Given the description of an element on the screen output the (x, y) to click on. 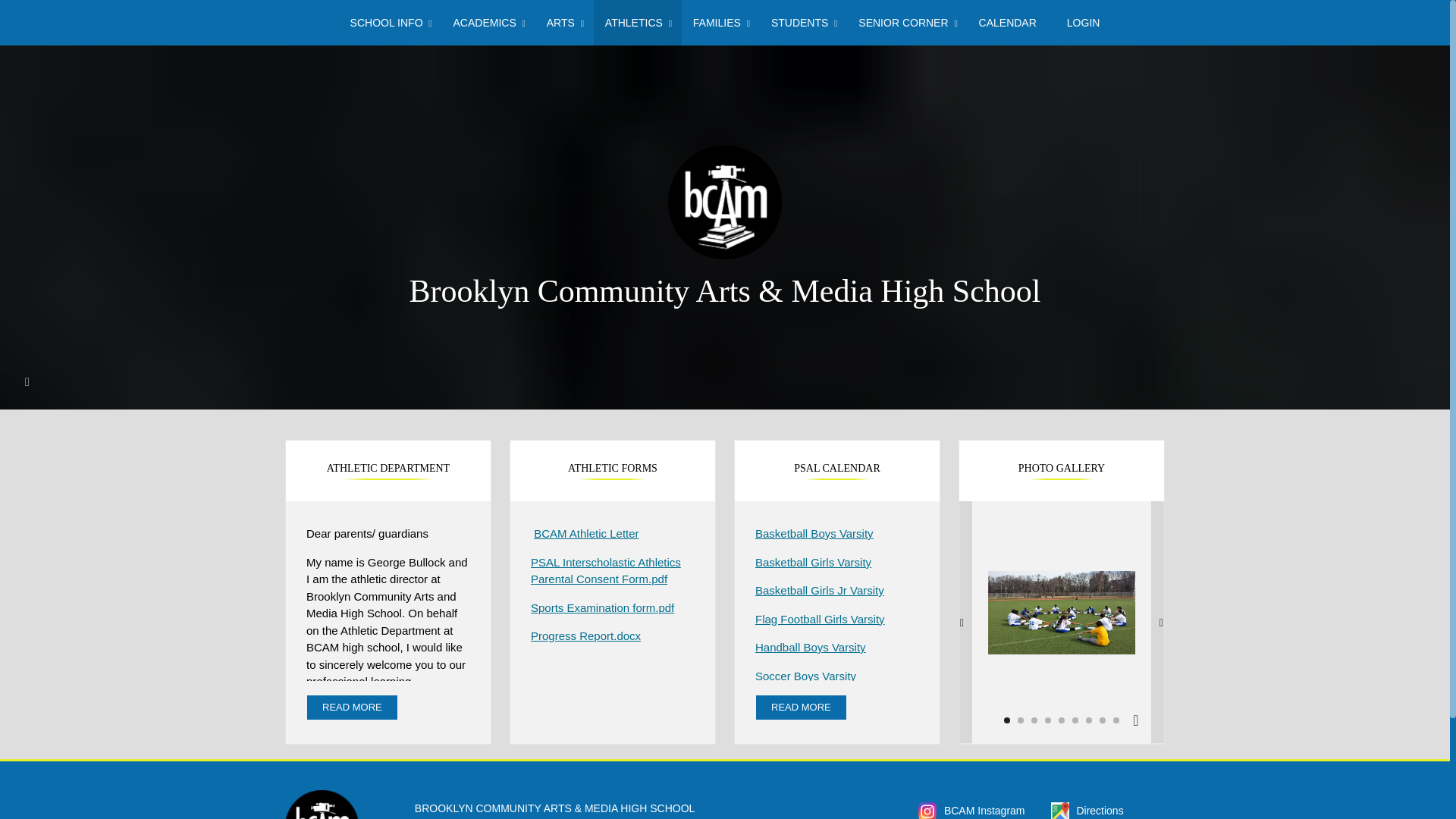
ACADEMICS (484, 22)
CALENDAR (1007, 22)
SENIOR CORNER (902, 22)
STUDENTS (799, 22)
SCHOOL INFO (386, 22)
SoccerProgressReport.docx (585, 635)
LOGIN (1083, 22)
ATHLETICS (633, 22)
BCAMAthleticLetter 2.pdf (586, 533)
FAMILIES (716, 22)
ARTS (560, 22)
SportsExaminationform.pdf (602, 606)
